Given the description of an element on the screen output the (x, y) to click on. 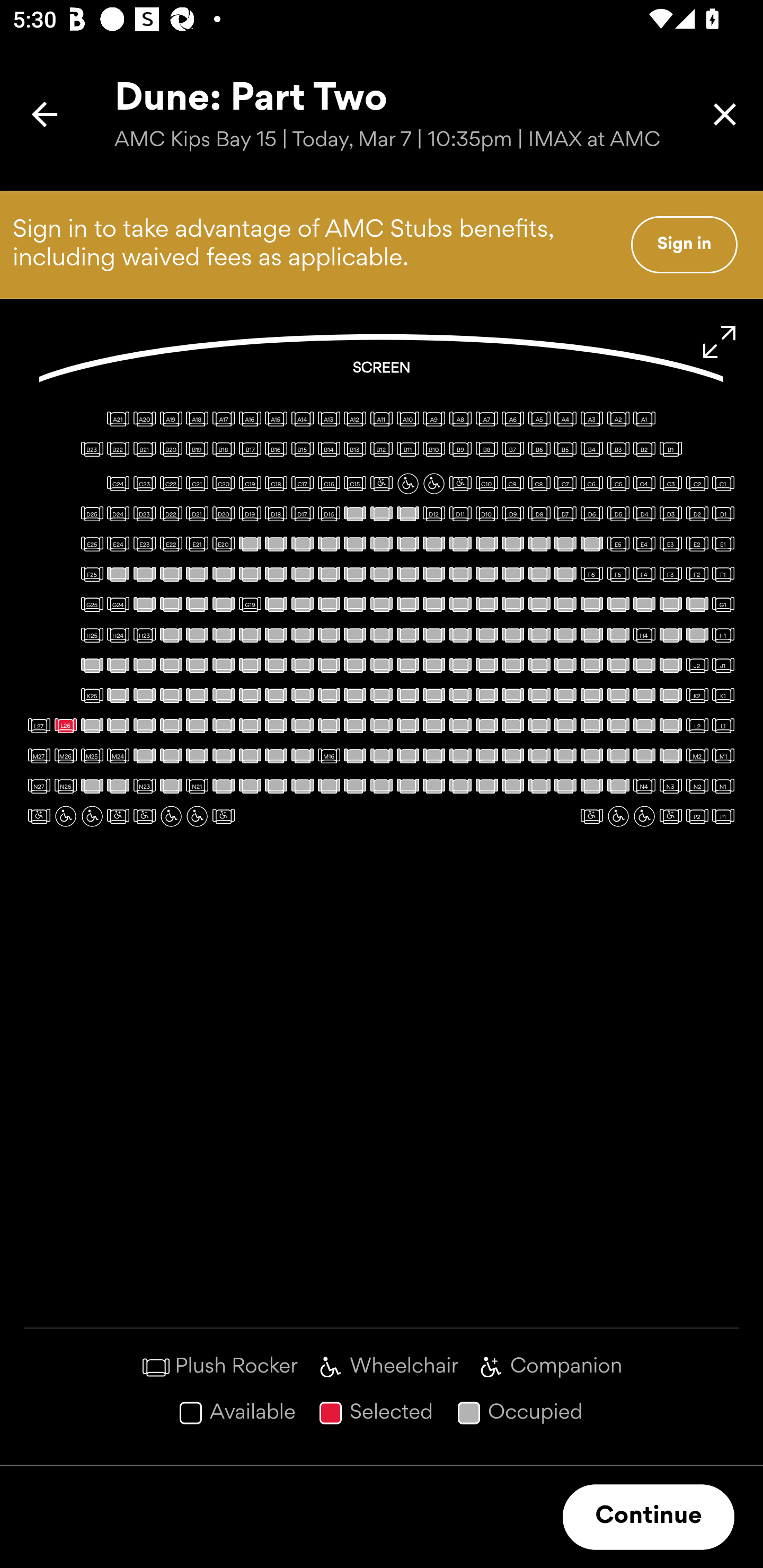
Back (44, 114)
Close (724, 114)
Sign in (684, 244)
Zoom (719, 342)
A21, Regular seat, available (118, 419)
A20, Regular seat, available (144, 419)
A19, Regular seat, available (170, 419)
A18, Regular seat, available (197, 419)
A17, Regular seat, available (223, 419)
A16, Regular seat, available (249, 419)
A15, Regular seat, available (276, 419)
A14, Regular seat, available (302, 419)
A13, Regular seat, available (328, 419)
A12, Regular seat, available (355, 419)
A11, Regular seat, available (381, 419)
A10, Regular seat, available (407, 419)
A9, Regular seat, available (433, 419)
A8, Regular seat, available (460, 419)
A7, Regular seat, available (486, 419)
A6, Regular seat, available (512, 419)
A5, Regular seat, available (539, 419)
A4, Regular seat, available (565, 419)
A3, Regular seat, available (591, 419)
A2, Regular seat, available (618, 419)
A1, Regular seat, available (644, 419)
B23, Regular seat, available (91, 449)
B22, Regular seat, available (118, 449)
B21, Regular seat, available (144, 449)
B20, Regular seat, available (170, 449)
B19, Regular seat, available (197, 449)
B18, Regular seat, available (223, 449)
B17, Regular seat, available (249, 449)
B16, Regular seat, available (276, 449)
B15, Regular seat, available (302, 449)
B14, Regular seat, available (328, 449)
B13, Regular seat, available (355, 449)
B12, Regular seat, available (381, 449)
B11, Regular seat, available (407, 449)
B10, Regular seat, available (433, 449)
B9, Regular seat, available (460, 449)
B8, Regular seat, available (486, 449)
B7, Regular seat, available (512, 449)
B6, Regular seat, available (539, 449)
B5, Regular seat, available (565, 449)
B4, Regular seat, available (591, 449)
B3, Regular seat, available (618, 449)
B2, Regular seat, available (644, 449)
B1, Regular seat, available (670, 449)
C24, Regular seat, available (118, 483)
C23, Regular seat, available (144, 483)
C22, Regular seat, available (170, 483)
C21, Regular seat, available (197, 483)
C20, Regular seat, available (223, 483)
C19, Regular seat, available (249, 483)
C18, Regular seat, available (276, 483)
C17, Regular seat, available (302, 483)
C16, Regular seat, available (328, 483)
C15, Regular seat, available (355, 483)
C14, Wheelchair companion seat, available (381, 483)
C13, Wheelchair space, available (407, 483)
C12, Wheelchair space, available (433, 483)
C11, Wheelchair companion seat, available (460, 483)
C10, Regular seat, available (486, 483)
C9, Regular seat, available (512, 483)
C8, Regular seat, available (539, 483)
C7, Regular seat, available (565, 483)
C6, Regular seat, available (591, 483)
C5, Regular seat, available (618, 483)
C4, Regular seat, available (644, 483)
C3, Regular seat, available (670, 483)
C2, Regular seat, available (697, 483)
C1, Regular seat, available (723, 483)
D25, Regular seat, available (91, 513)
D24, Regular seat, available (118, 513)
D23, Regular seat, available (144, 513)
D22, Regular seat, available (170, 513)
D21, Regular seat, available (197, 513)
D20, Regular seat, available (223, 513)
D19, Regular seat, available (249, 513)
D18, Regular seat, available (276, 513)
D17, Regular seat, available (302, 513)
D16, Regular seat, available (328, 513)
D12, Regular seat, available (433, 513)
D11, Regular seat, available (460, 513)
D10, Regular seat, available (486, 513)
D9, Regular seat, available (512, 513)
D8, Regular seat, available (539, 513)
D7, Regular seat, available (565, 513)
D6, Regular seat, available (591, 513)
D5, Regular seat, available (618, 513)
D4, Regular seat, available (644, 513)
D3, Regular seat, available (670, 513)
D2, Regular seat, available (697, 513)
D1, Regular seat, available (723, 513)
E25, Regular seat, available (91, 543)
E24, Regular seat, available (118, 543)
E23, Regular seat, available (144, 543)
E22, Regular seat, available (170, 543)
E21, Regular seat, available (197, 543)
E20, Regular seat, available (223, 543)
E5, Regular seat, available (618, 543)
E4, Regular seat, available (644, 543)
E3, Regular seat, available (670, 543)
E2, Regular seat, available (697, 543)
E1, Regular seat, available (723, 543)
F25, Regular seat, available (91, 574)
F6, Regular seat, available (591, 574)
F5, Regular seat, available (618, 574)
F4, Regular seat, available (644, 574)
F3, Regular seat, available (670, 574)
F2, Regular seat, available (697, 574)
F1, Regular seat, available (723, 574)
G25, Regular seat, available (91, 604)
G24, Regular seat, available (118, 604)
G19, Regular seat, available (249, 604)
G1, Regular seat, available (723, 604)
H25, Regular seat, available (91, 634)
H24, Regular seat, available (118, 634)
H23, Regular seat, available (144, 634)
H4, Regular seat, available (644, 634)
H1, Regular seat, available (723, 634)
J2, Regular seat, available (697, 665)
J1, Regular seat, available (723, 665)
K25, Regular seat, available (91, 695)
K2, Regular seat, available (697, 695)
K1, Regular seat, available (723, 695)
L27, Regular seat, available (39, 725)
L26, Regular seat, selected (65, 725)
L2, Regular seat, available (697, 725)
L1, Regular seat, available (723, 725)
M27, Regular seat, available (39, 755)
M26, Regular seat, available (65, 755)
M25, Regular seat, available (91, 755)
M24, Regular seat, available (118, 755)
M16, Regular seat, available (328, 755)
M2, Regular seat, available (697, 755)
M1, Regular seat, available (723, 755)
N27, Regular seat, available (39, 786)
N26, Regular seat, available (65, 786)
N23, Regular seat, available (144, 786)
N21, Regular seat, available (197, 786)
N4, Regular seat, available (644, 786)
N3, Regular seat, available (670, 786)
N2, Regular seat, available (697, 786)
N1, Regular seat, available (723, 786)
P14, Wheelchair companion seat, available (39, 816)
P13, Wheelchair space, available (65, 816)
P12, Wheelchair space, available (91, 816)
P11, Wheelchair companion seat, available (118, 816)
P10, Wheelchair companion seat, available (144, 816)
P9, Wheelchair space, available (170, 816)
P8, Wheelchair space, available (197, 816)
P7, Wheelchair companion seat, available (223, 816)
P6, Wheelchair companion seat, available (591, 816)
P5, Wheelchair space, available (618, 816)
P4, Wheelchair space, available (644, 816)
P3, Wheelchair companion seat, available (670, 816)
P2, Regular seat, available (697, 816)
P1, Regular seat, available (723, 816)
Continue (648, 1516)
